Given the description of an element on the screen output the (x, y) to click on. 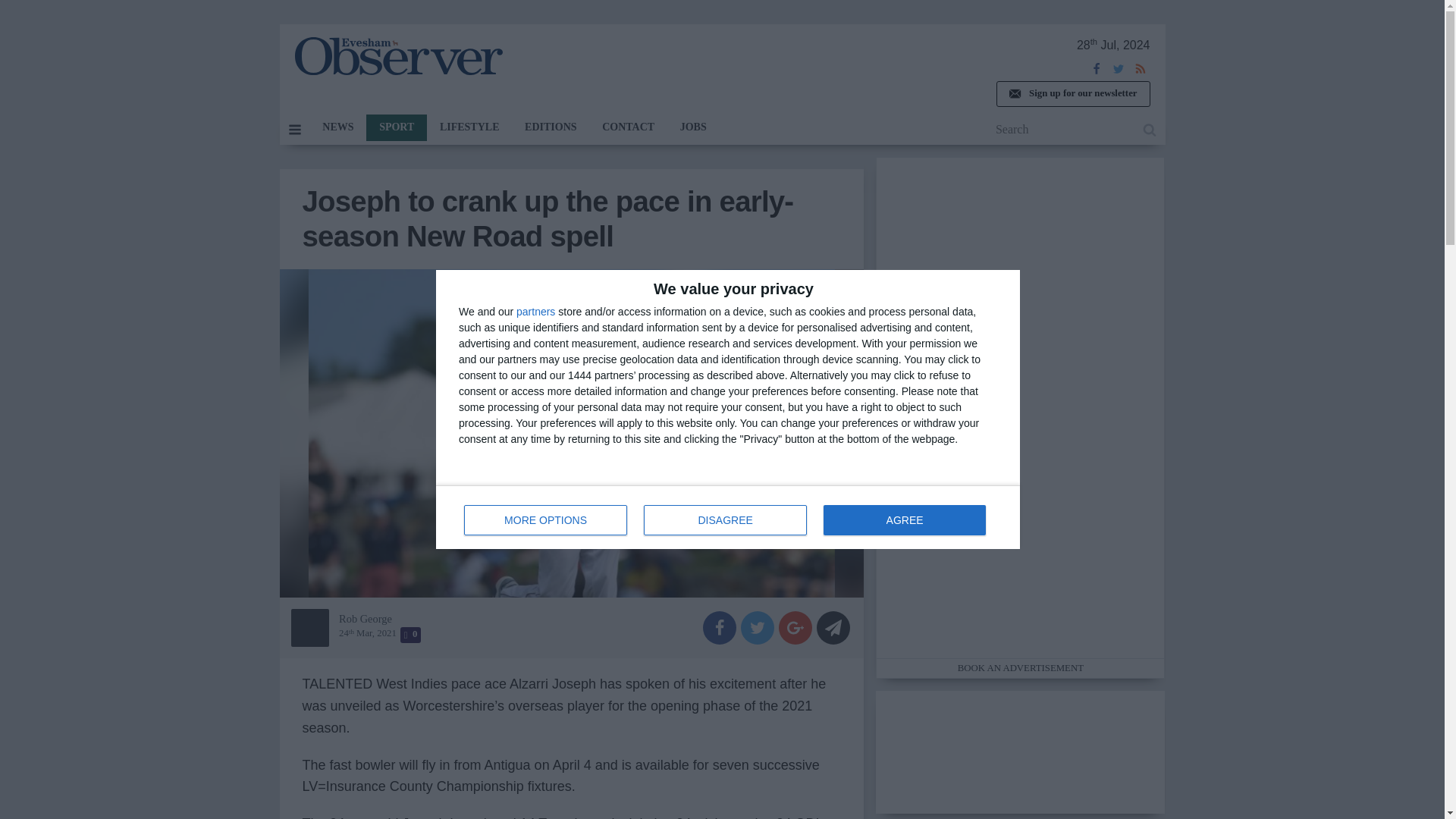
CONTACT (627, 127)
NEWS (727, 516)
AGREE (337, 127)
DISAGREE (904, 520)
  Sign up for our newsletter (724, 520)
MORE OPTIONS (1072, 94)
partners (545, 520)
EDITIONS (535, 311)
LIFESTYLE (550, 127)
JOBS (469, 127)
The Evesham Observer (692, 127)
SPORT (398, 55)
